Given the description of an element on the screen output the (x, y) to click on. 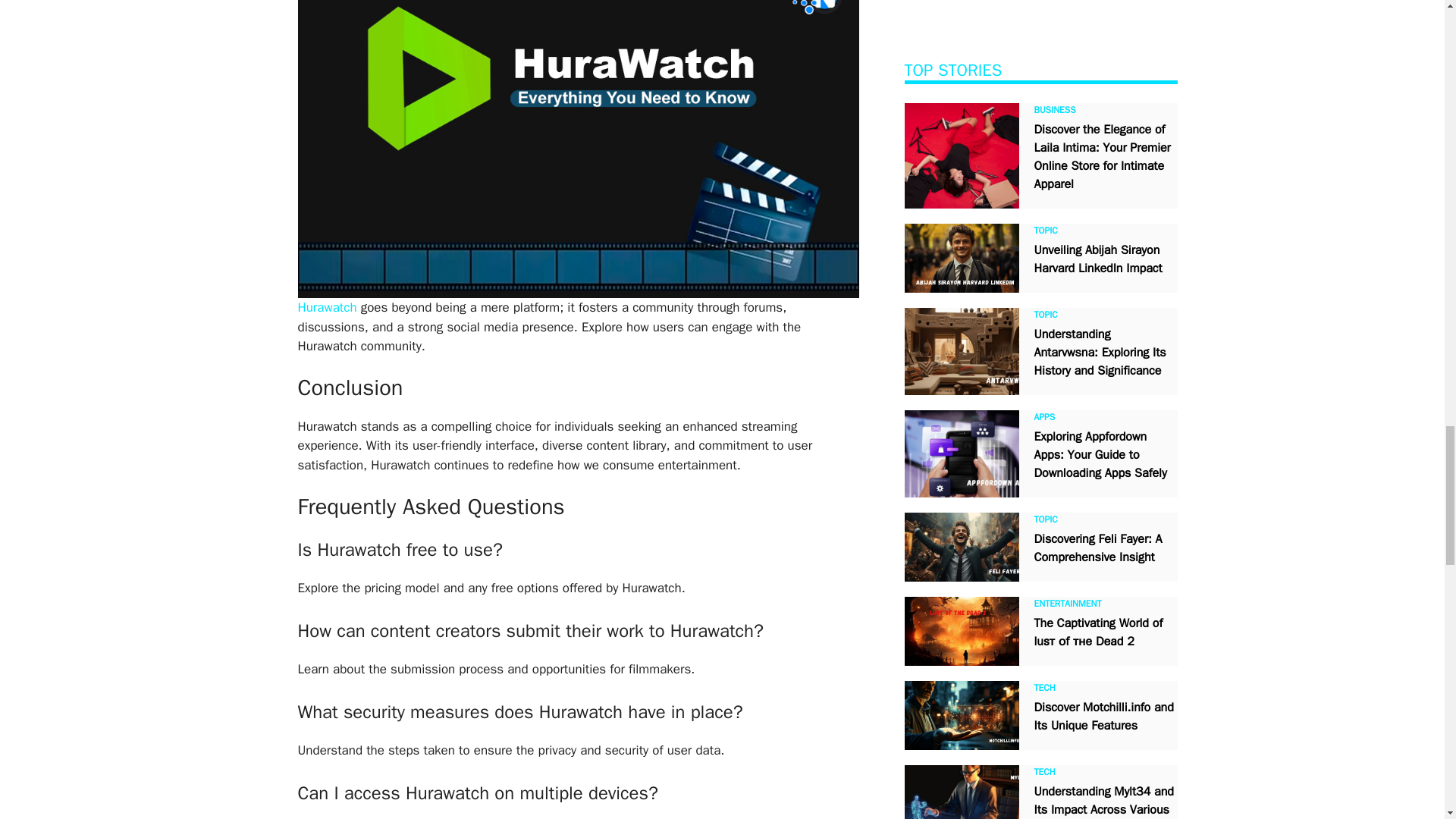
Hurawatch (326, 307)
